Given the description of an element on the screen output the (x, y) to click on. 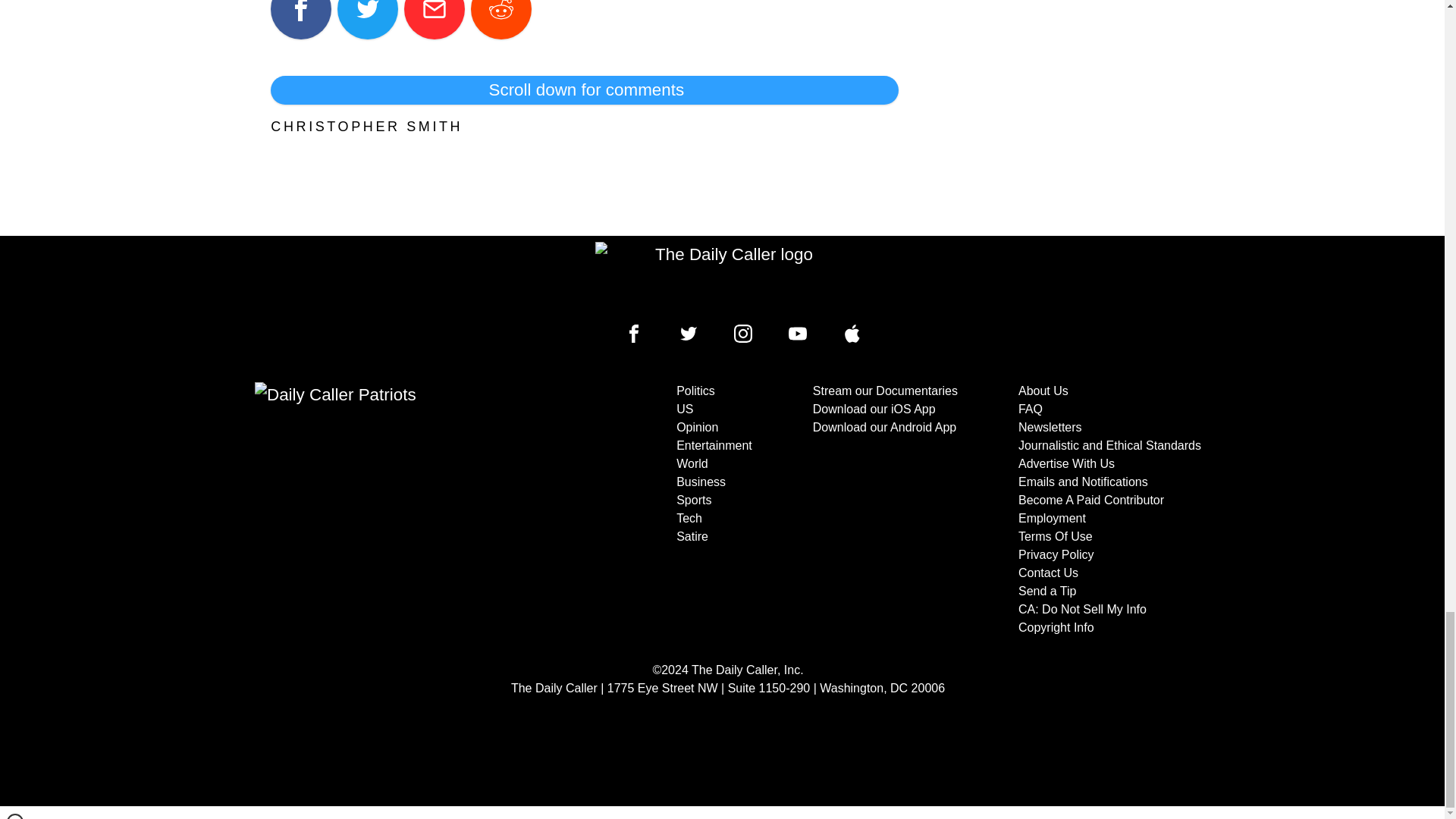
Daily Caller YouTube (852, 333)
Daily Caller Twitter (688, 333)
Daily Caller YouTube (797, 333)
To home page (727, 276)
Daily Caller Instagram (742, 333)
Subscribe to The Daily Caller (405, 509)
Scroll down for comments (584, 90)
Daily Caller Facebook (633, 333)
